Given the description of an element on the screen output the (x, y) to click on. 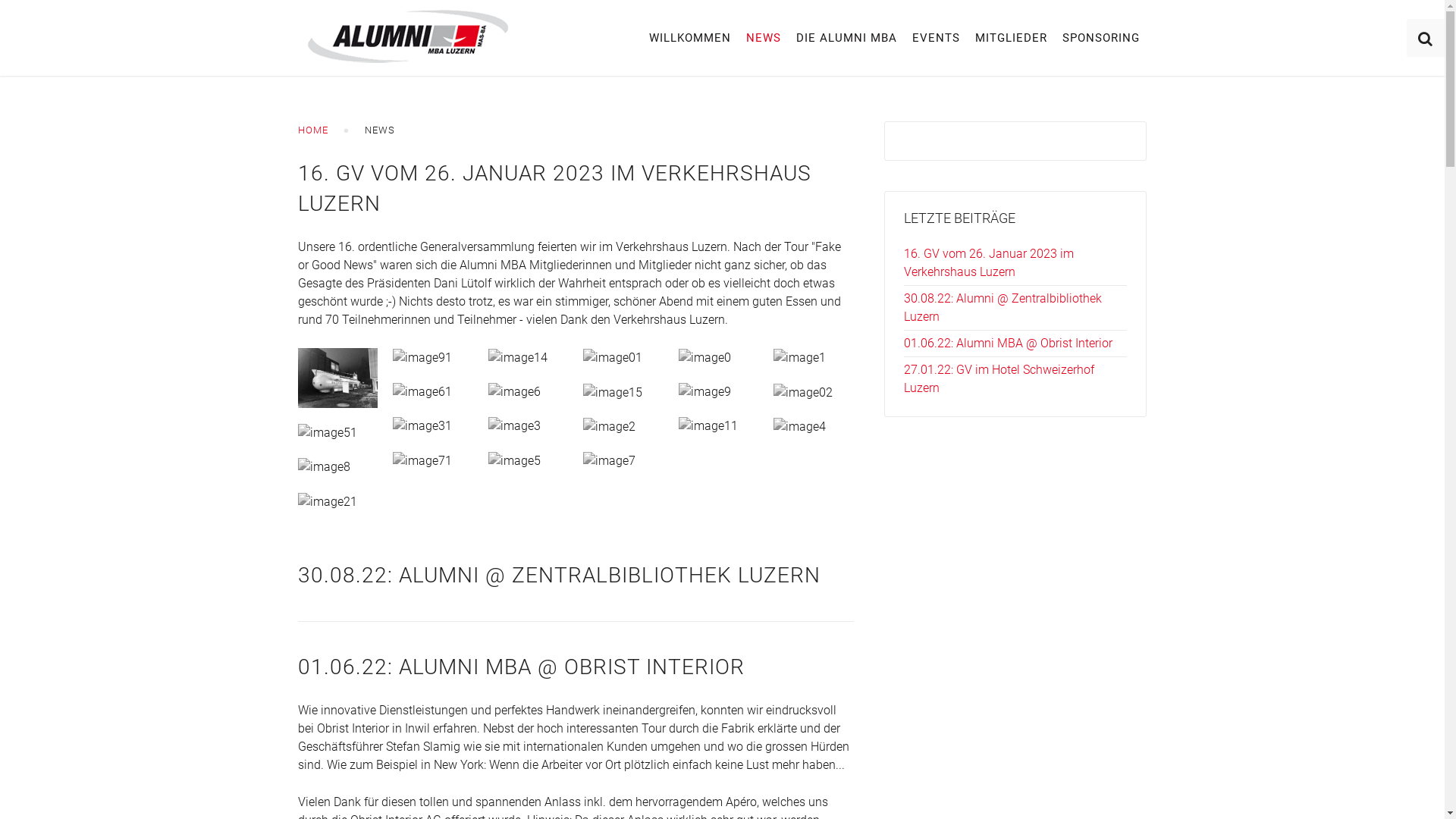
image9 Element type: hover (704, 391)
image6 Element type: hover (514, 391)
image5 Element type: hover (514, 460)
image11 Element type: hover (707, 426)
WILLKOMMEN Element type: text (689, 37)
HOME Element type: text (312, 130)
image2 Element type: hover (609, 426)
image41 Element type: hover (337, 377)
image4 Element type: hover (799, 426)
EVENTS Element type: text (934, 37)
image01 Element type: hover (612, 357)
image14 Element type: hover (517, 357)
image02 Element type: hover (802, 391)
16. GV VOM 26. JANUAR 2023 IM VERKEHRSHAUS LUZERN Element type: text (553, 188)
MITGLIEDER Element type: text (1010, 37)
image31 Element type: hover (421, 426)
image0 Element type: hover (704, 357)
NEWS Element type: text (763, 37)
01.06.22: ALUMNI MBA @ OBRIST INTERIOR Element type: text (520, 666)
image91 Element type: hover (421, 357)
image15 Element type: hover (612, 391)
image71 Element type: hover (421, 460)
image51 Element type: hover (326, 432)
image8 Element type: hover (323, 467)
30.08.22: Alumni @ Zentralbibliothek Luzern Element type: text (1002, 307)
image7 Element type: hover (609, 460)
SPONSORING Element type: text (1100, 37)
30.08.22: ALUMNI @ ZENTRALBIBLIOTHEK LUZERN Element type: text (558, 574)
image21 Element type: hover (326, 501)
DIE ALUMNI MBA Element type: text (846, 37)
27.01.22: GV im Hotel Schweizerhof Luzern Element type: text (998, 378)
image61 Element type: hover (421, 391)
image3 Element type: hover (514, 426)
01.06.22: Alumni MBA @ Obrist Interior Element type: text (1007, 342)
image1 Element type: hover (799, 357)
16. GV vom 26. Januar 2023 im Verkehrshaus Luzern Element type: text (988, 262)
